Given the description of an element on the screen output the (x, y) to click on. 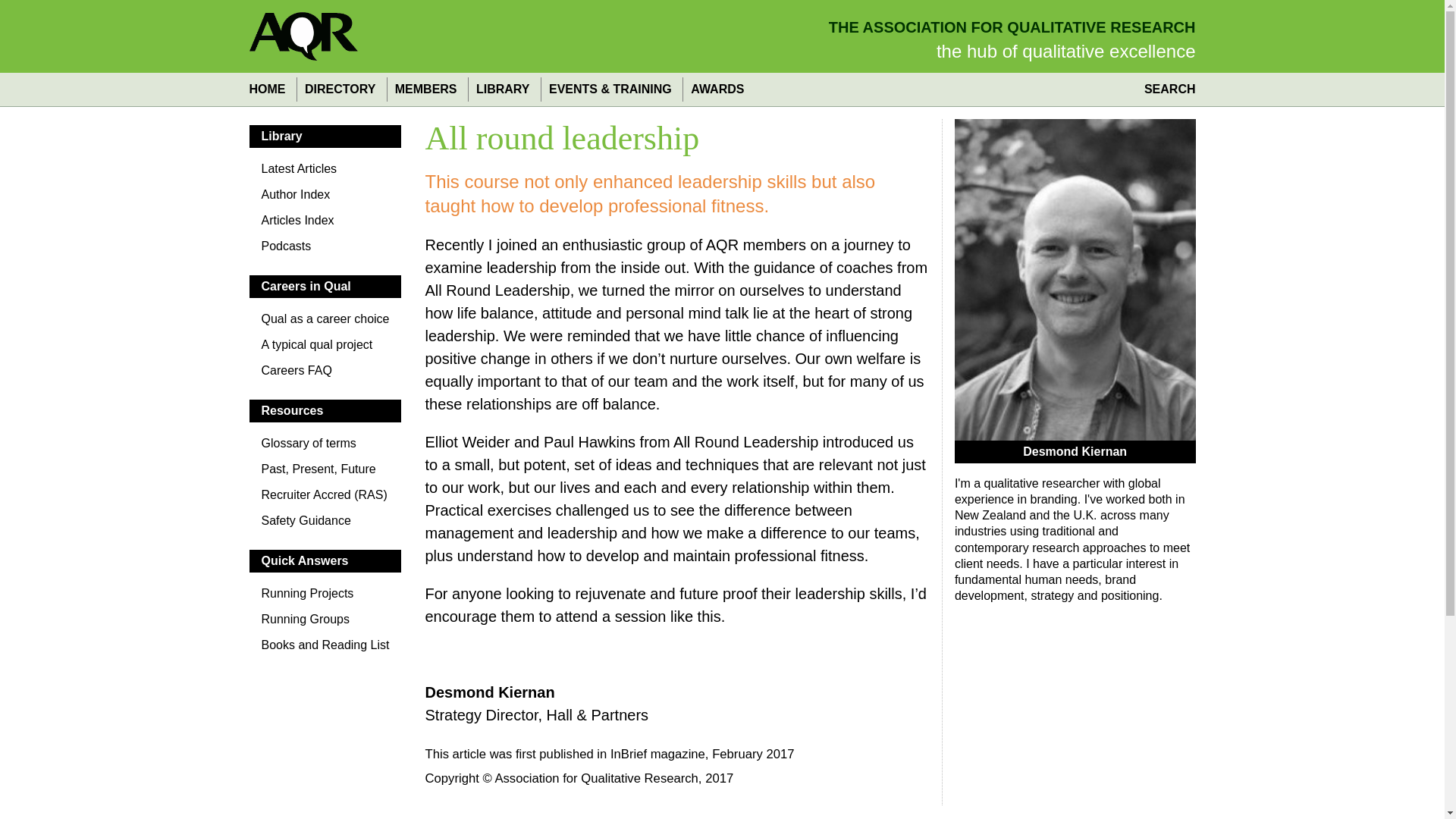
MEMBERS (425, 88)
DIRECTORY (339, 88)
Author Index (324, 198)
Running Projects (324, 597)
Qual as a career choice (324, 322)
Latest Articles (324, 172)
A typical qual project (324, 348)
Books and Reading List (324, 648)
Running Groups (324, 623)
Podcasts (324, 249)
